Given the description of an element on the screen output the (x, y) to click on. 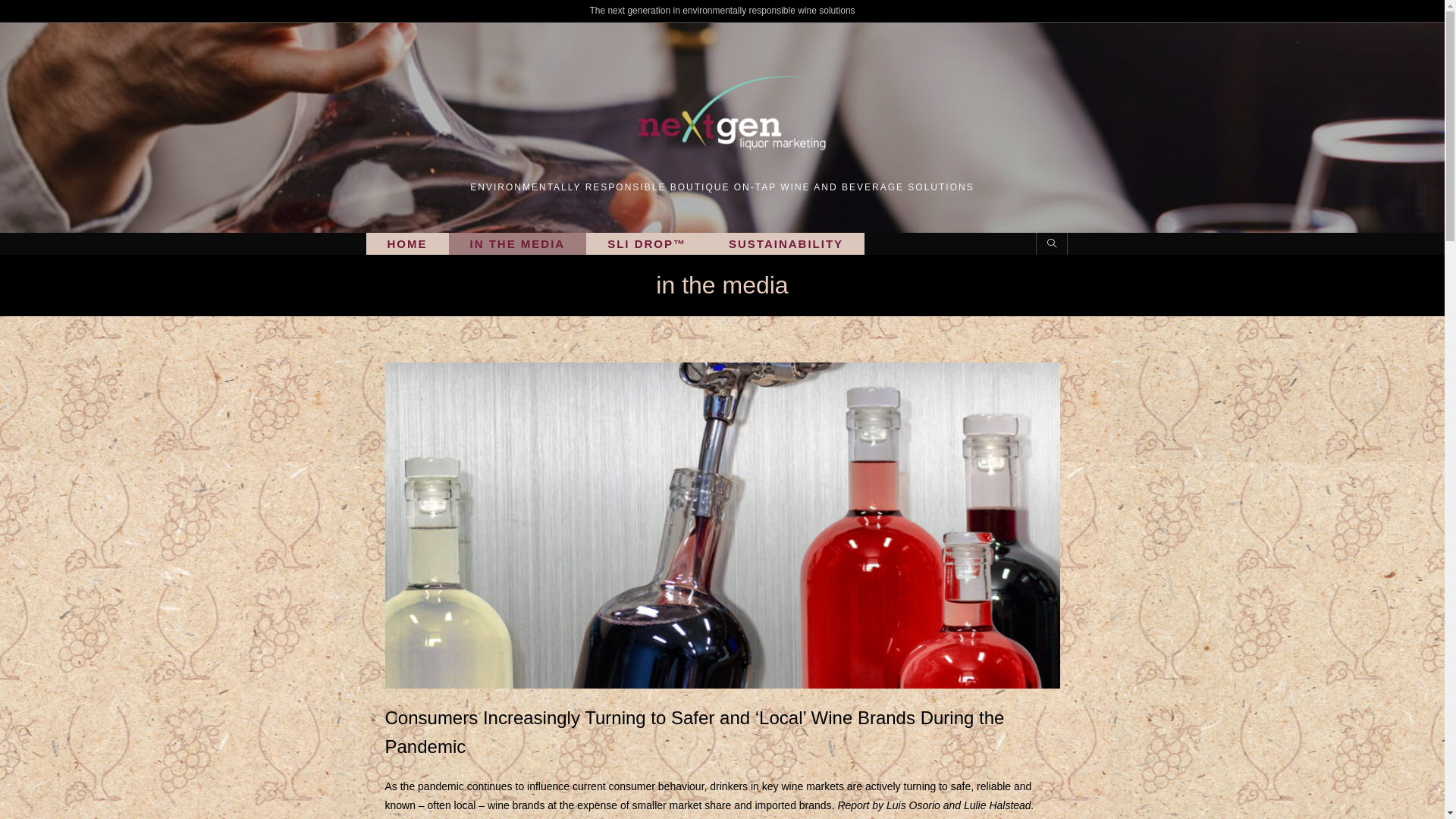
HOME Element type: text (406, 243)
IN THE MEDIA Element type: text (517, 243)
SUSTAINABILITY Element type: text (785, 243)
